Given the description of an element on the screen output the (x, y) to click on. 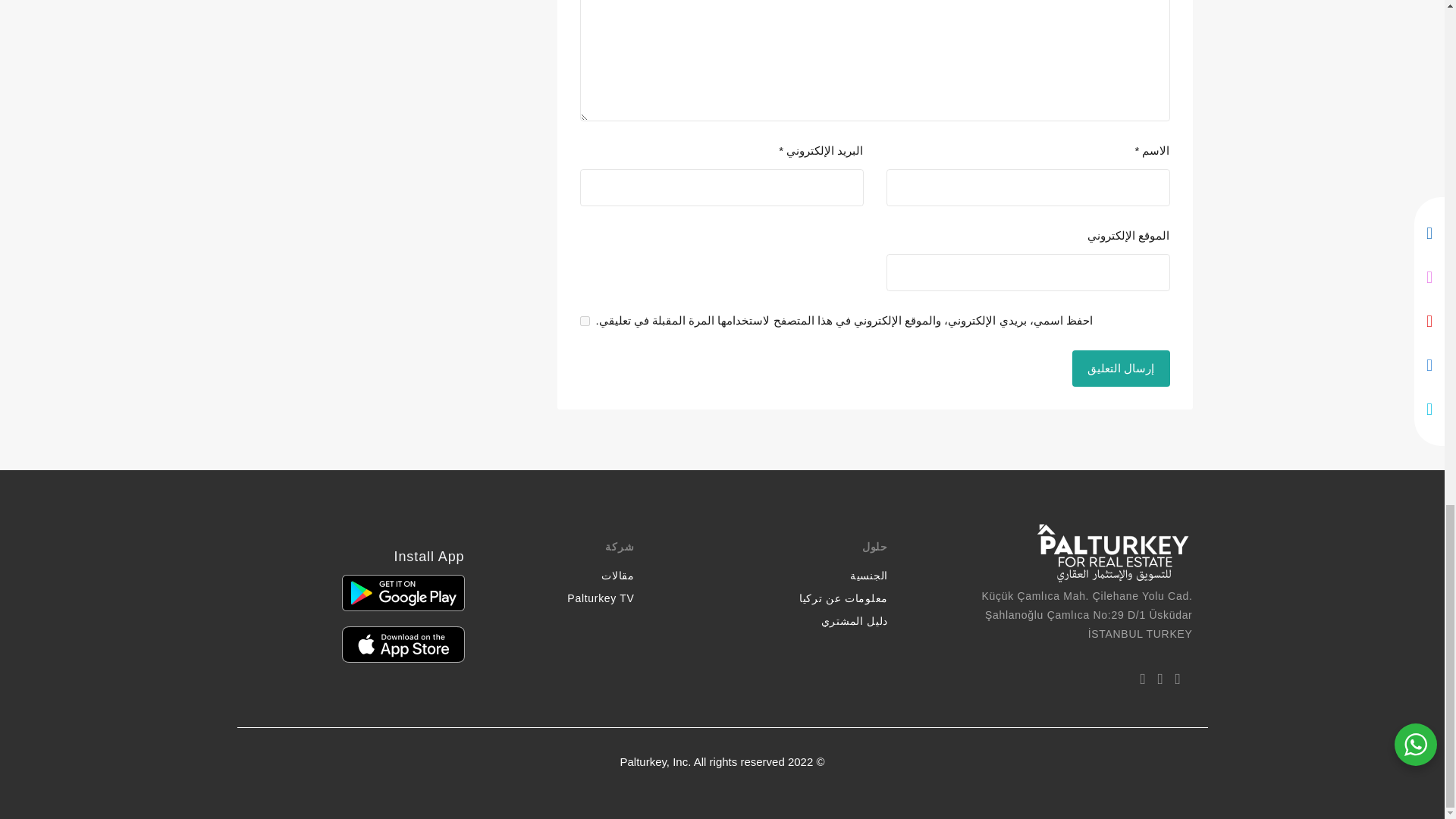
yes (584, 320)
